Given the description of an element on the screen output the (x, y) to click on. 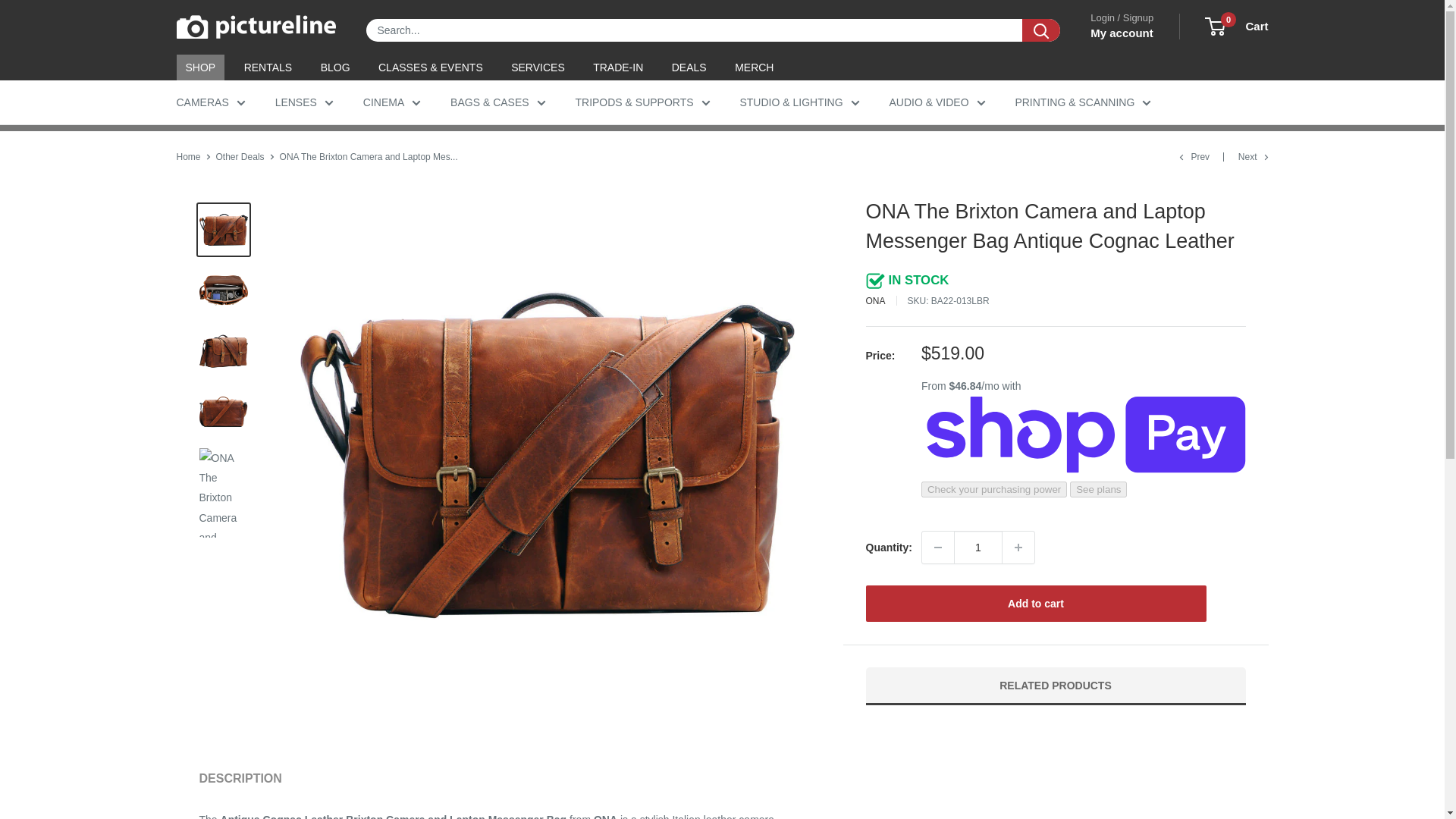
Increase quantity by 1 (1018, 547)
Decrease quantity by 1 (937, 547)
1 (978, 547)
